Given the description of an element on the screen output the (x, y) to click on. 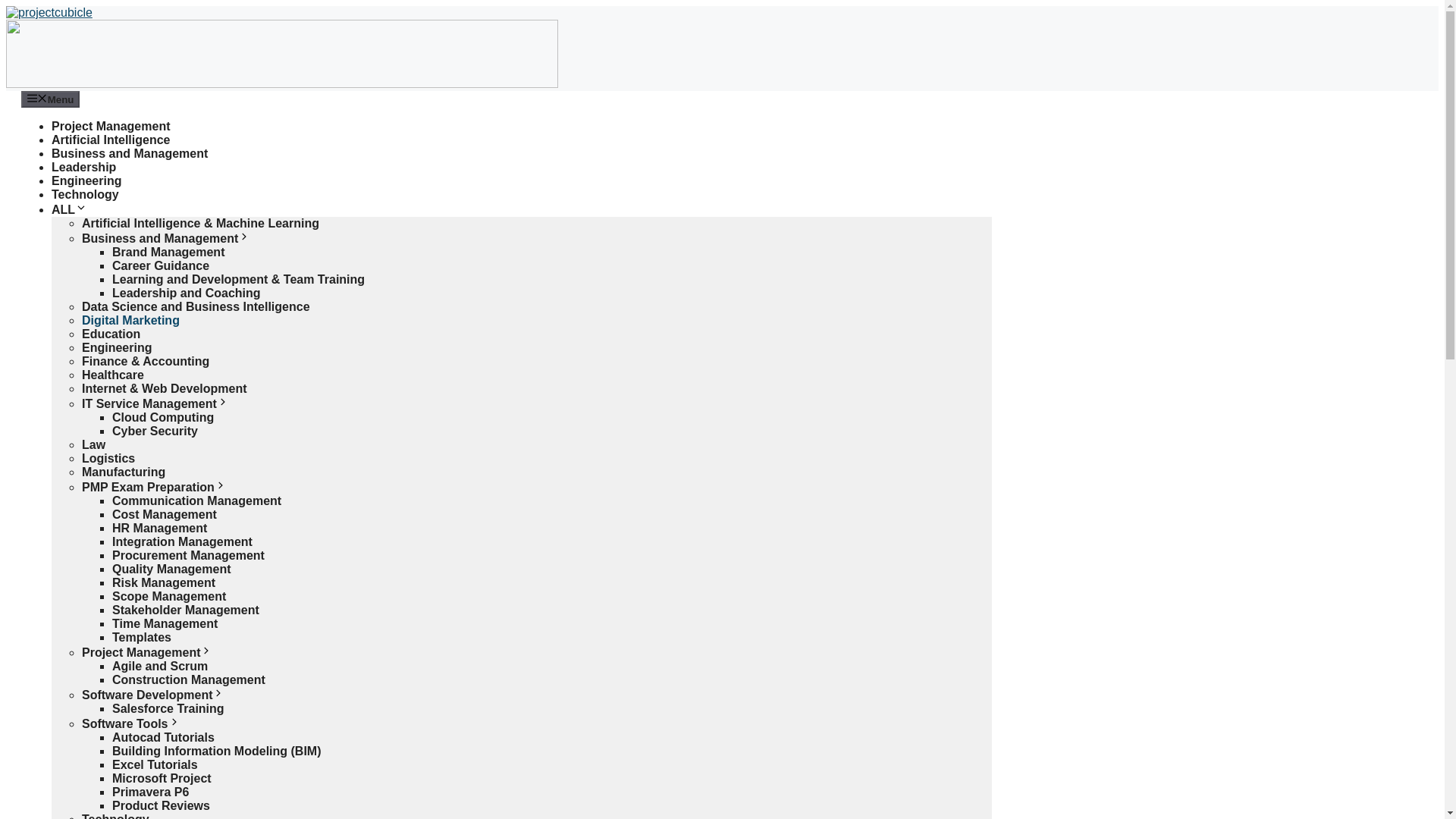
Logistics (108, 458)
Risk Management (163, 582)
Digital Marketing (130, 319)
Education (110, 333)
Business and Management (165, 237)
Engineering (116, 347)
PMP Exam Preparation (154, 486)
Business and Management (129, 153)
Law (92, 444)
